Given the description of an element on the screen output the (x, y) to click on. 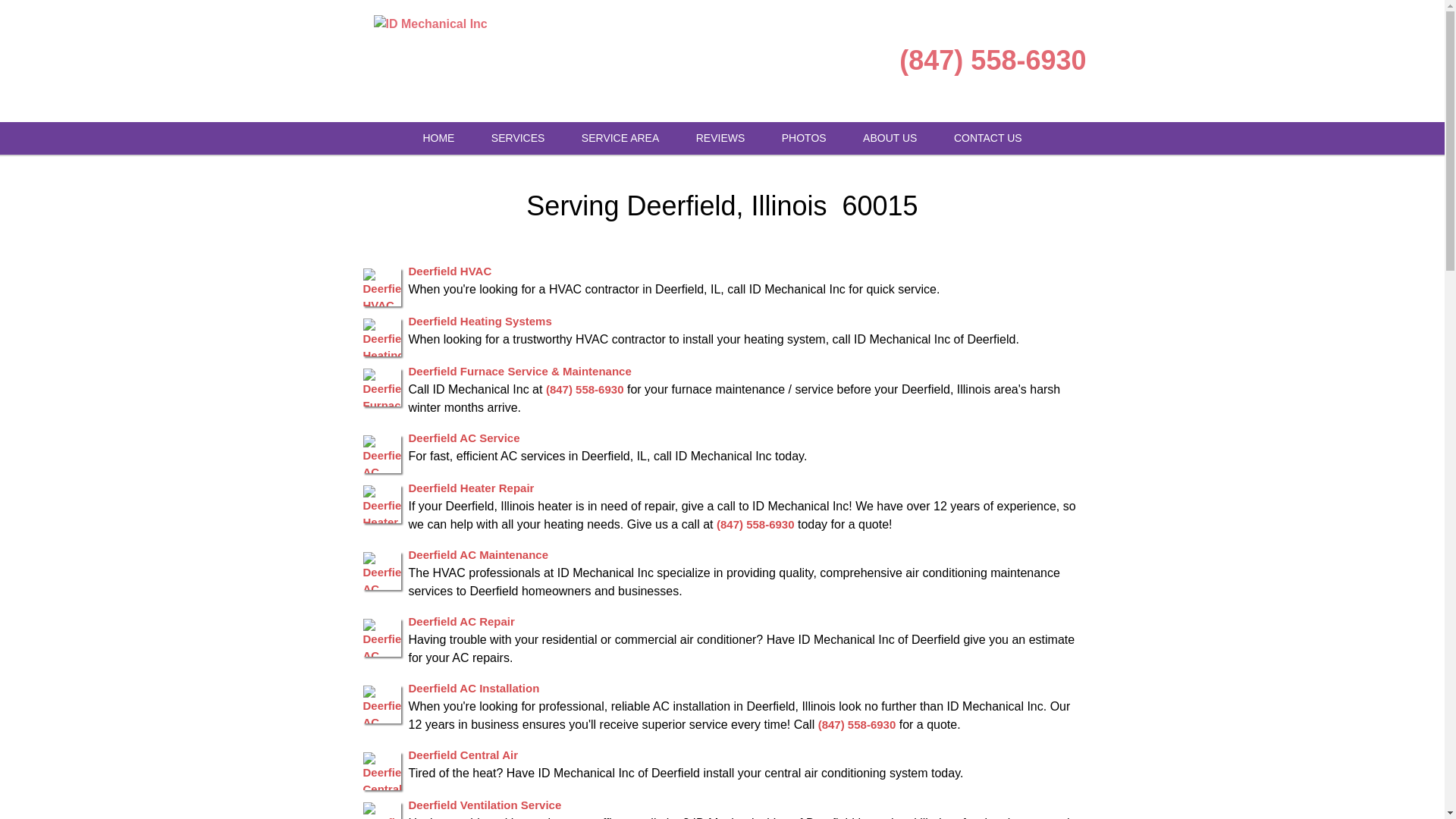
HOME (438, 138)
PHOTOS (804, 138)
ABOUT US (889, 138)
SERVICES (518, 138)
Deerfield Heating Systems (479, 319)
Deerfield Heater Repair (470, 486)
REVIEWS (720, 138)
SERVICE AREA (619, 138)
Deerfield HVAC (449, 269)
Deerfield AC Maintenance (477, 553)
